Given the description of an element on the screen output the (x, y) to click on. 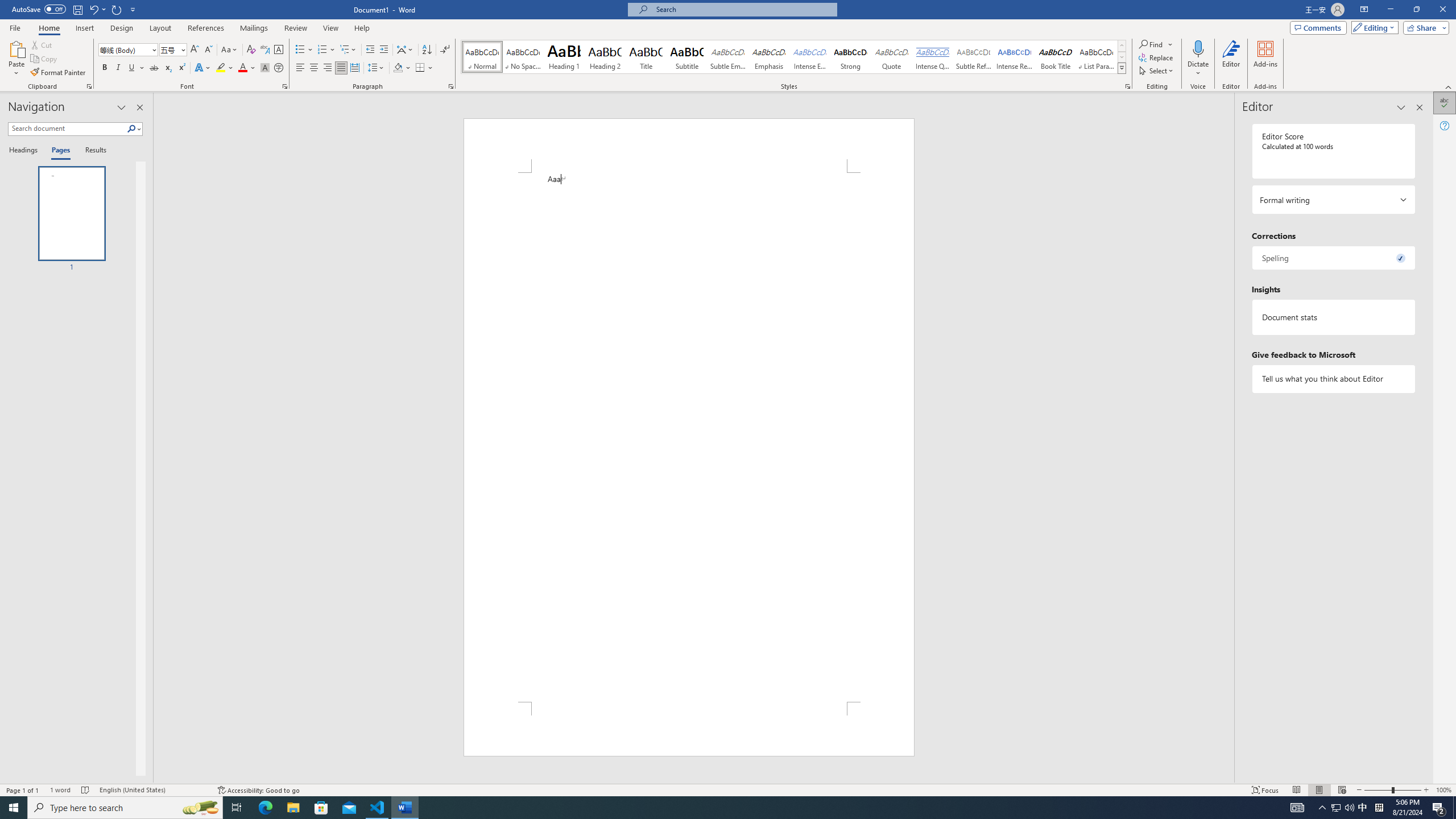
Paste (16, 48)
Numbering (322, 49)
AutoSave (38, 9)
Collapse the Ribbon (1448, 86)
Insert (83, 28)
Copy (45, 58)
Page 1 content (688, 436)
Line and Paragraph Spacing (376, 67)
Search (133, 128)
Phonetic Guide... (264, 49)
File Tab (15, 27)
Paste (16, 58)
Repeat Increase Indent (117, 9)
AutomationID: QuickStylesGallery (794, 56)
